Given the description of an element on the screen output the (x, y) to click on. 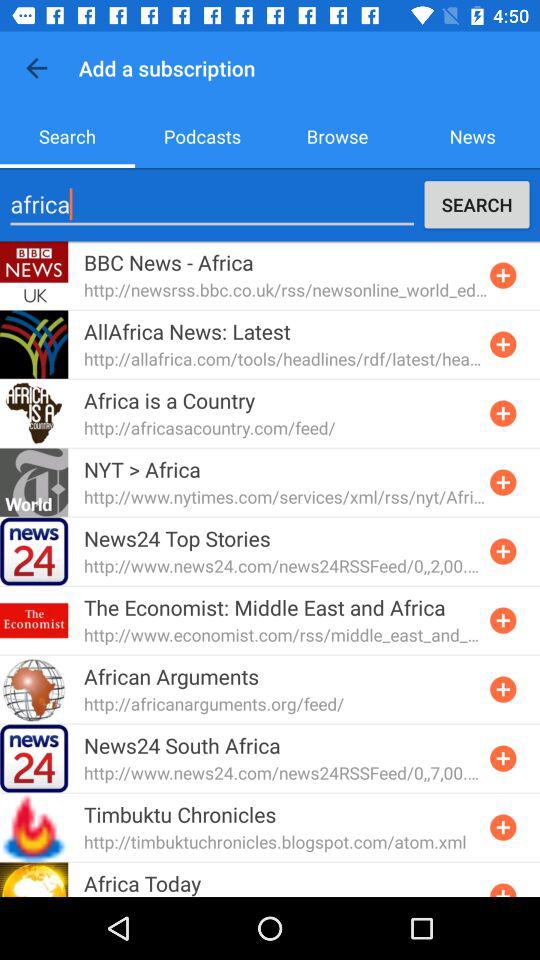
add subscription (503, 758)
